Given the description of an element on the screen output the (x, y) to click on. 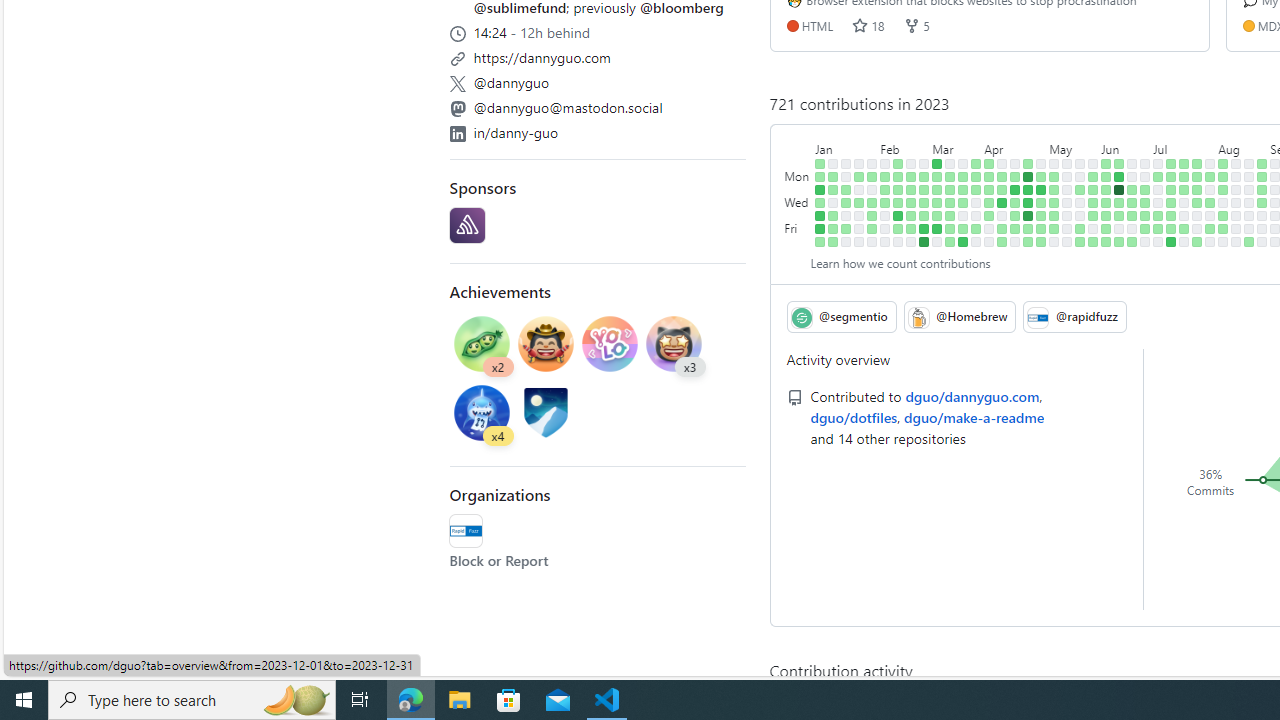
4 contributions on July 16th. (1184, 163)
1 contribution on February 2nd. (872, 215)
2 contributions on February 8th. (885, 202)
1 contribution on June 28th. (1145, 202)
No contributions on April 13th. (1002, 215)
1 contribution on July 10th. (1171, 176)
2 contributions on June 17th. (1119, 241)
1 contribution on July 25th. (1197, 189)
March (956, 145)
No contributions on April 7th. (989, 228)
1 contribution on May 10th. (1054, 202)
11 contributions on March 10th. (937, 228)
1 contribution on June 22nd. (1131, 215)
11 contributions on January 3rd. (820, 189)
No contributions on August 3rd. (1210, 215)
